Given the description of an element on the screen output the (x, y) to click on. 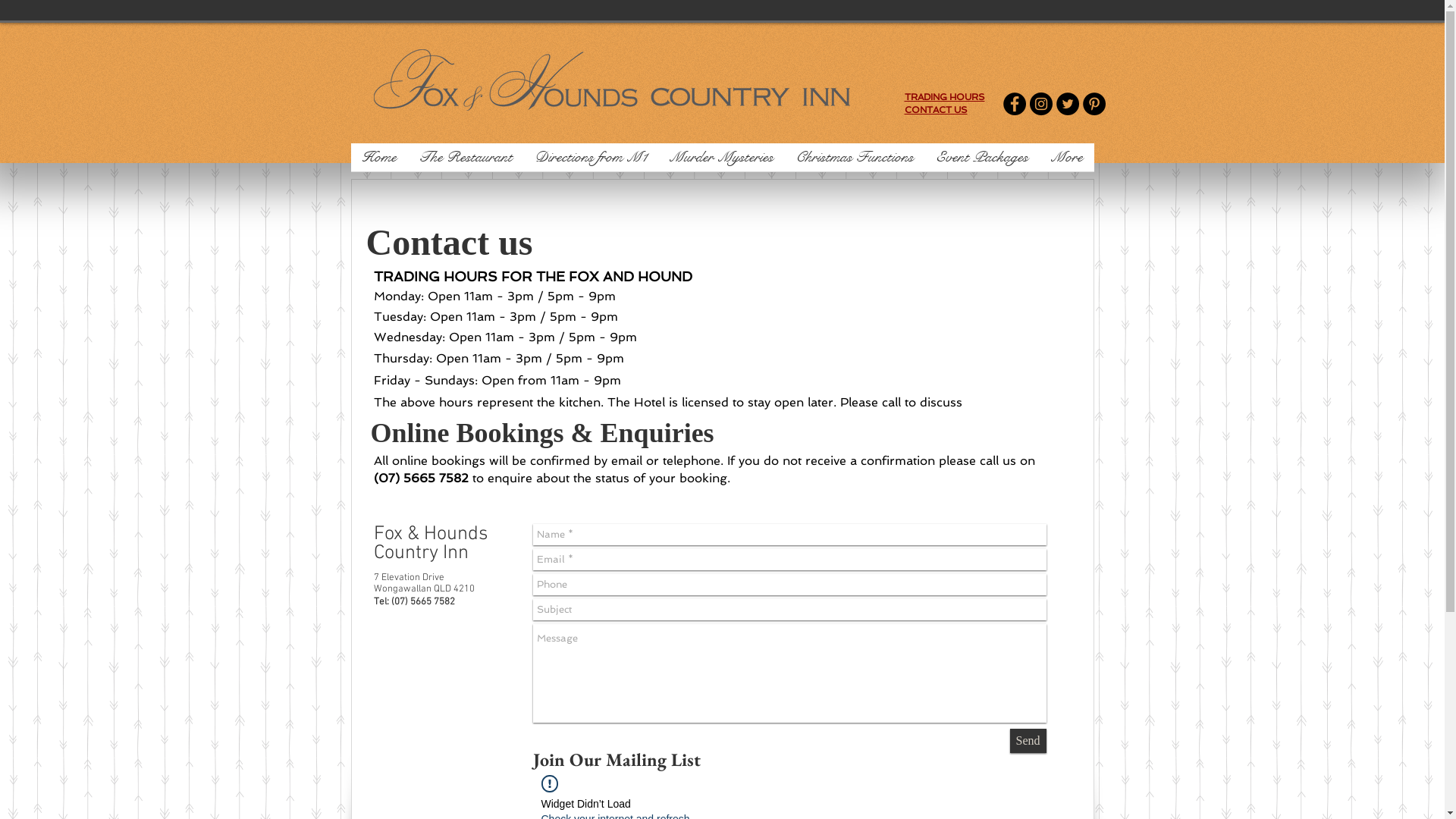
Send Element type: text (1028, 740)
Home Element type: text (378, 162)
Facebook Like Element type: hover (742, 780)
TRADING HOURS Element type: text (943, 96)
Event Packages Element type: text (982, 162)
Christmas Functions Element type: text (854, 162)
Murder Mysteries Element type: text (721, 162)
The Restaurant Element type: text (465, 162)
Directions from M1 Element type: text (590, 162)
